Given the description of an element on the screen output the (x, y) to click on. 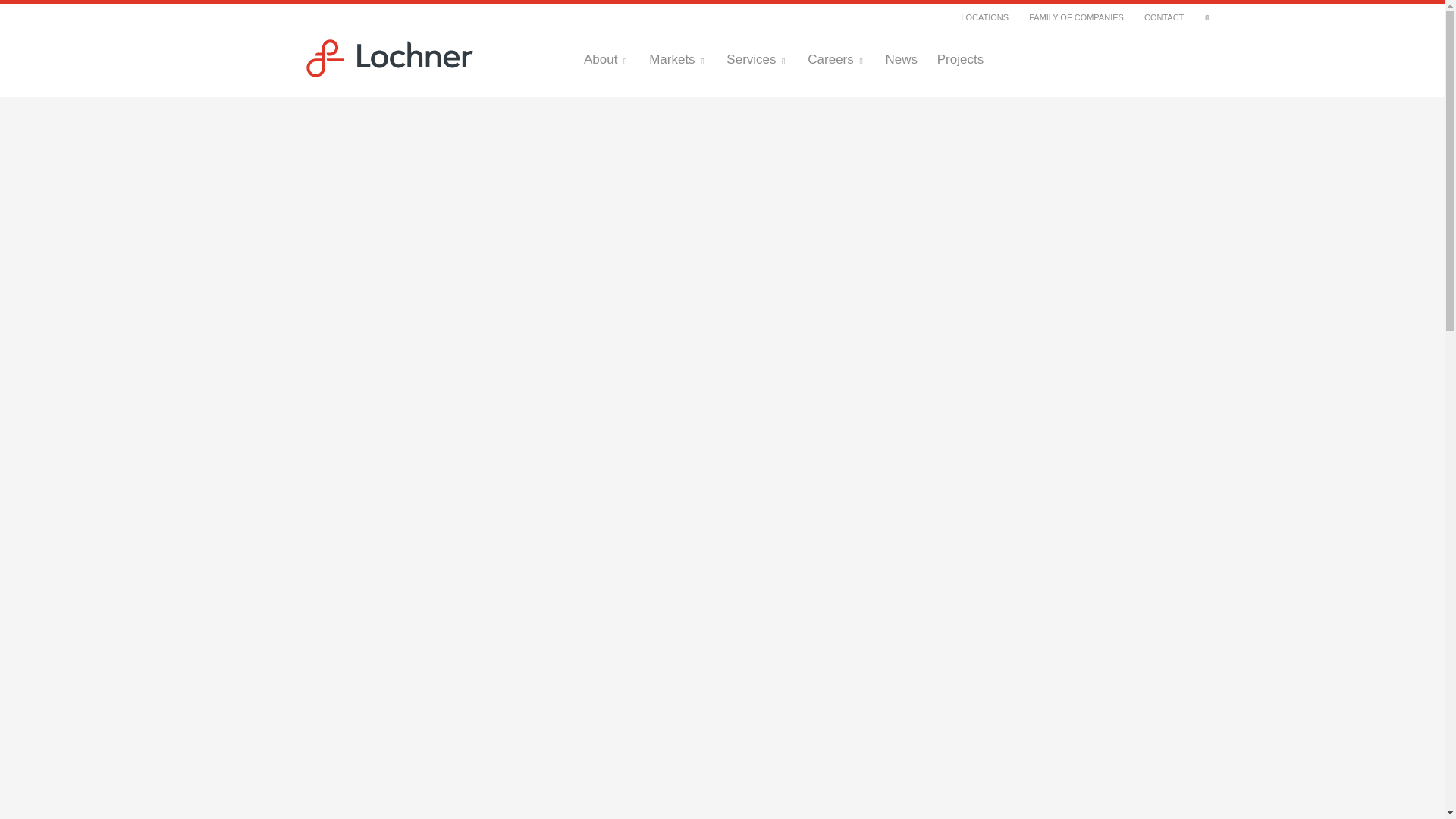
Markets (677, 59)
FAMILY OF COMPANIES (1076, 17)
LOCATIONS (984, 17)
Projects (960, 59)
Services (756, 59)
Careers (836, 59)
About (605, 59)
CONTACT (1163, 17)
News (901, 59)
